Given the description of an element on the screen output the (x, y) to click on. 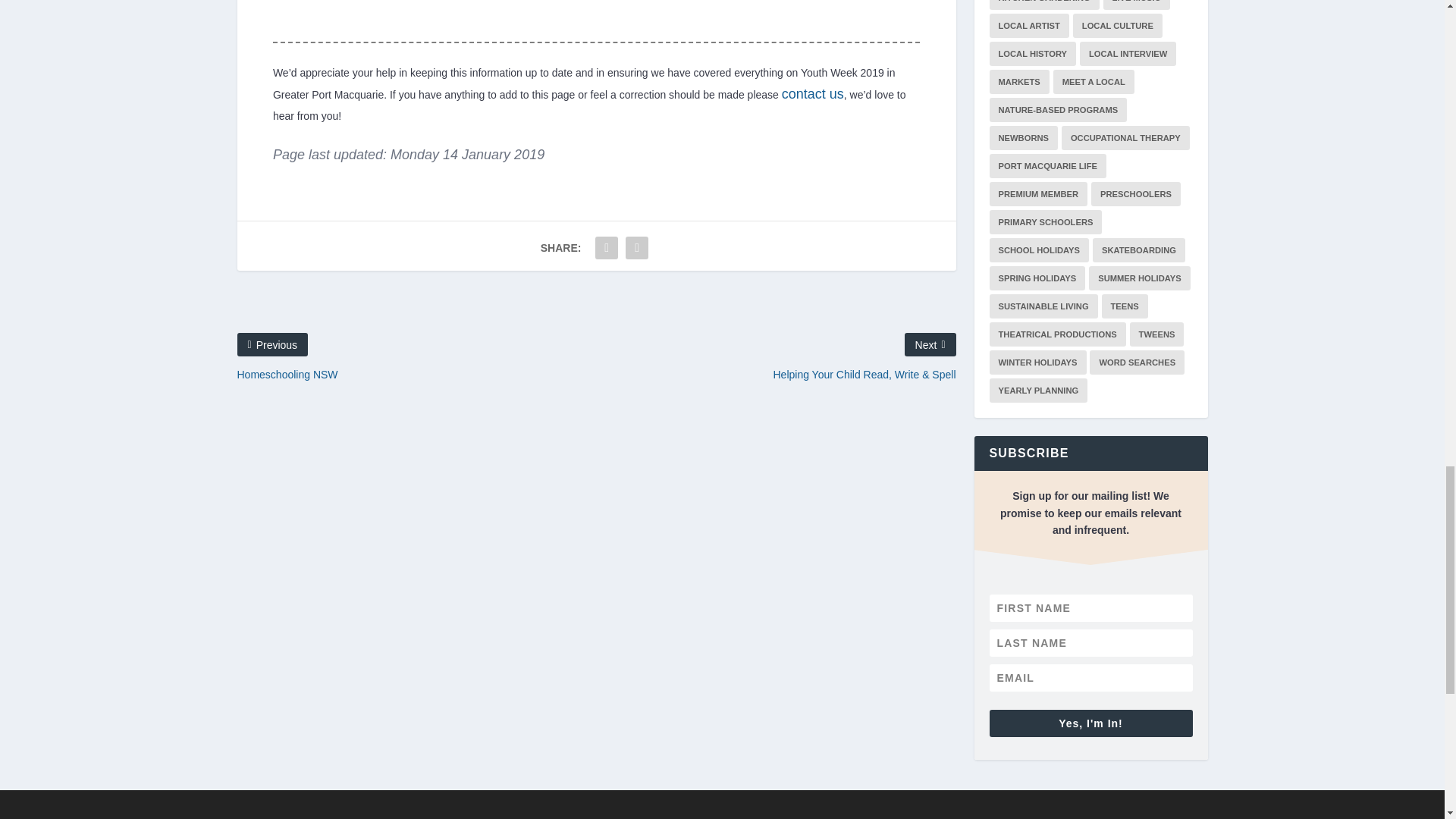
Contact Kids Port Mac (812, 93)
Share "Youth Week 2019" via Twitter (636, 247)
Share "Youth Week 2019" via Facebook (606, 247)
